Given the description of an element on the screen output the (x, y) to click on. 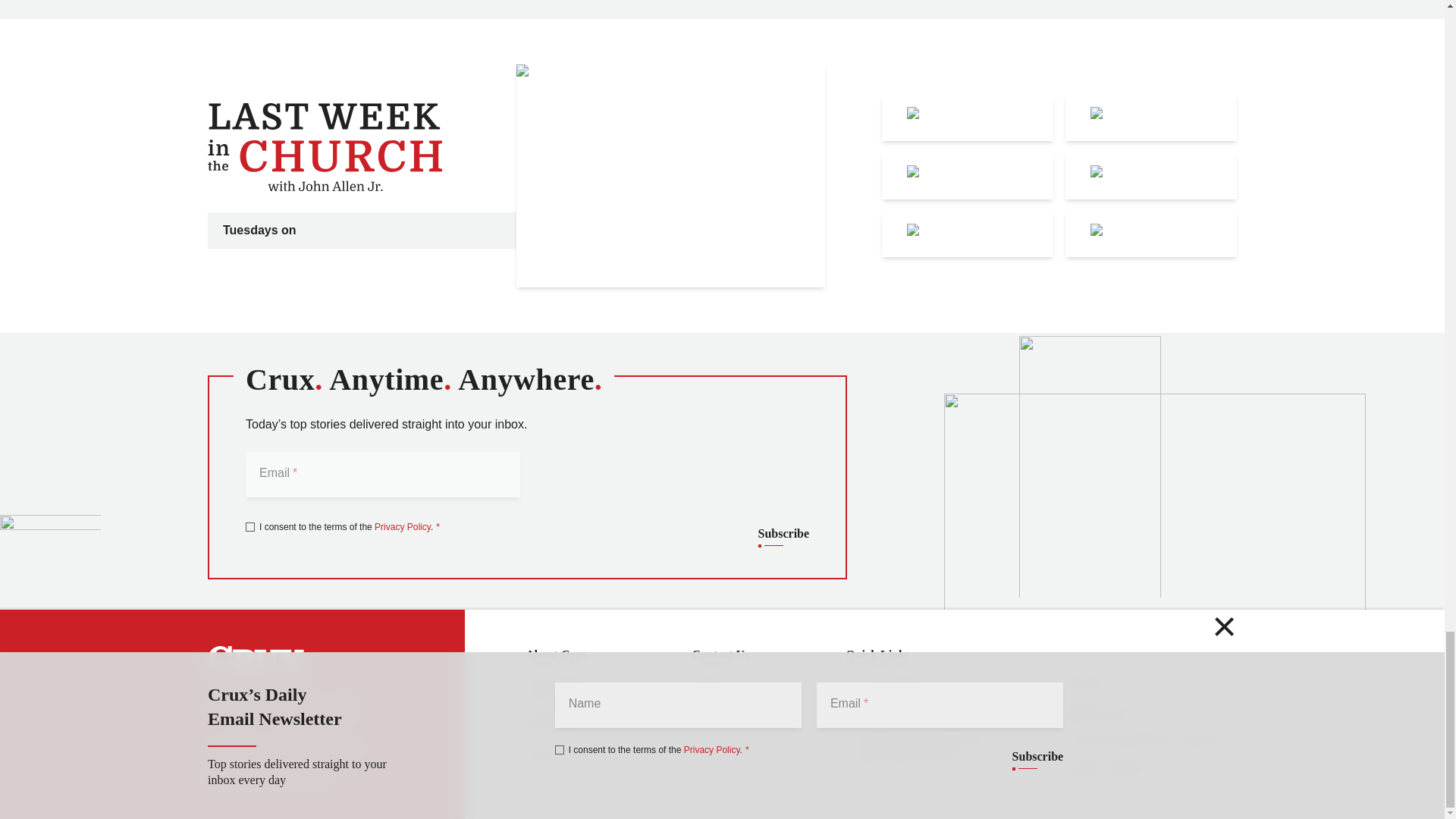
true (250, 526)
